Given the description of an element on the screen output the (x, y) to click on. 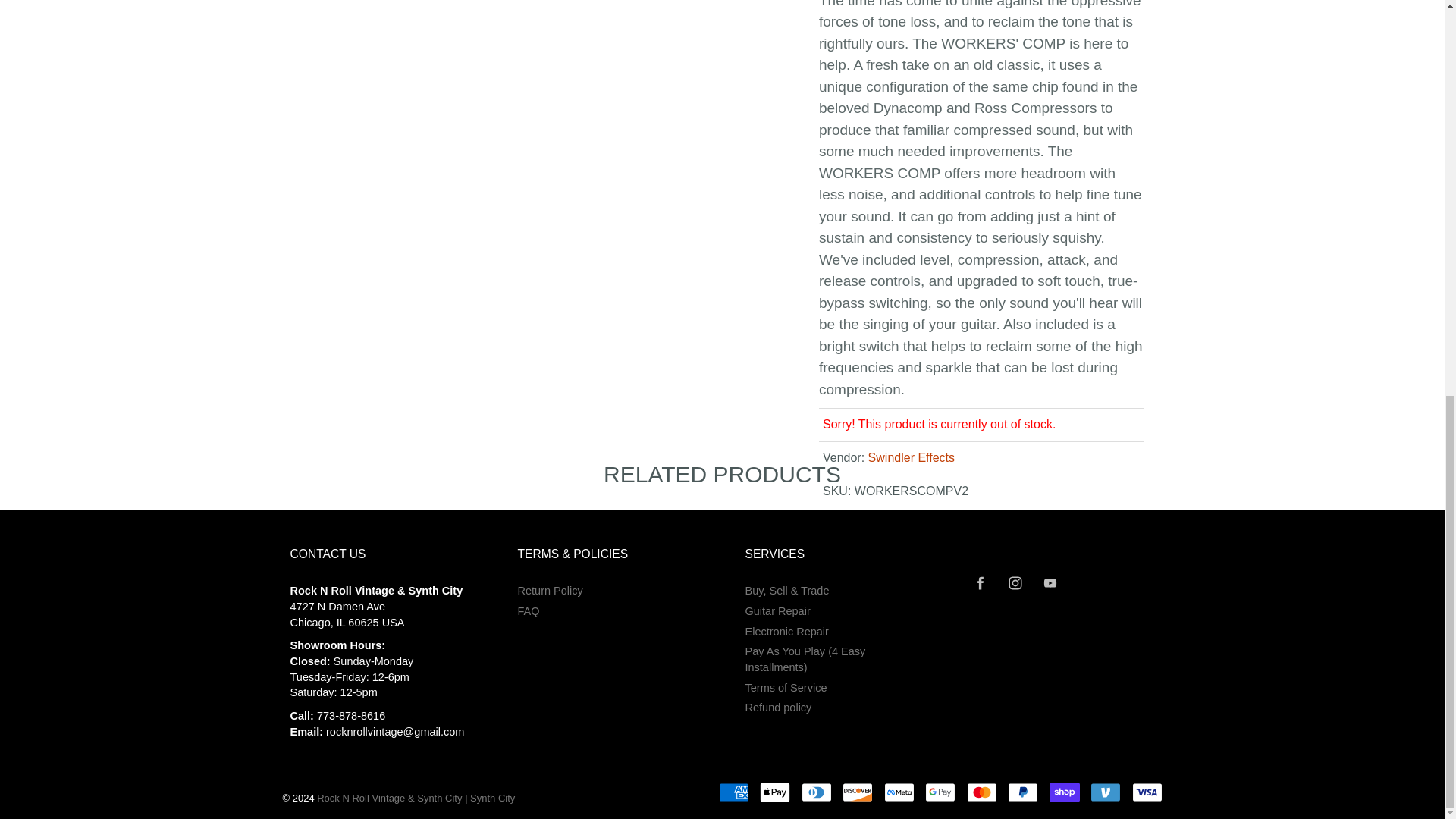
Shop Pay (1064, 792)
Swindler Effects (911, 457)
Facebook (981, 583)
Diners Club (816, 792)
Meta Pay (898, 792)
Instagram (1016, 583)
Google Pay (939, 792)
Discover (857, 792)
Venmo (1105, 792)
PayPal (1022, 792)
